Given the description of an element on the screen output the (x, y) to click on. 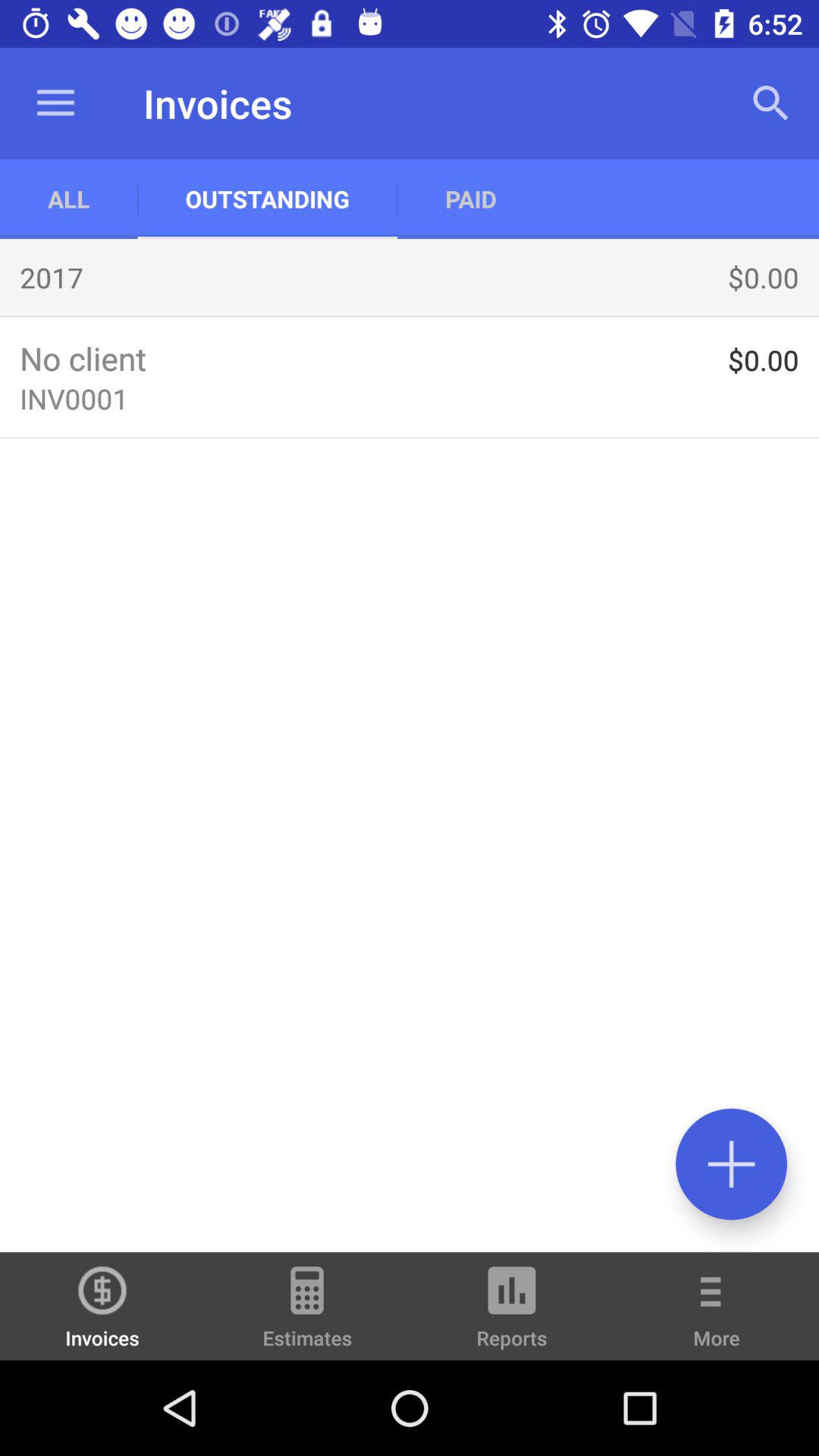
tap the icon next to reports icon (306, 1313)
